Given the description of an element on the screen output the (x, y) to click on. 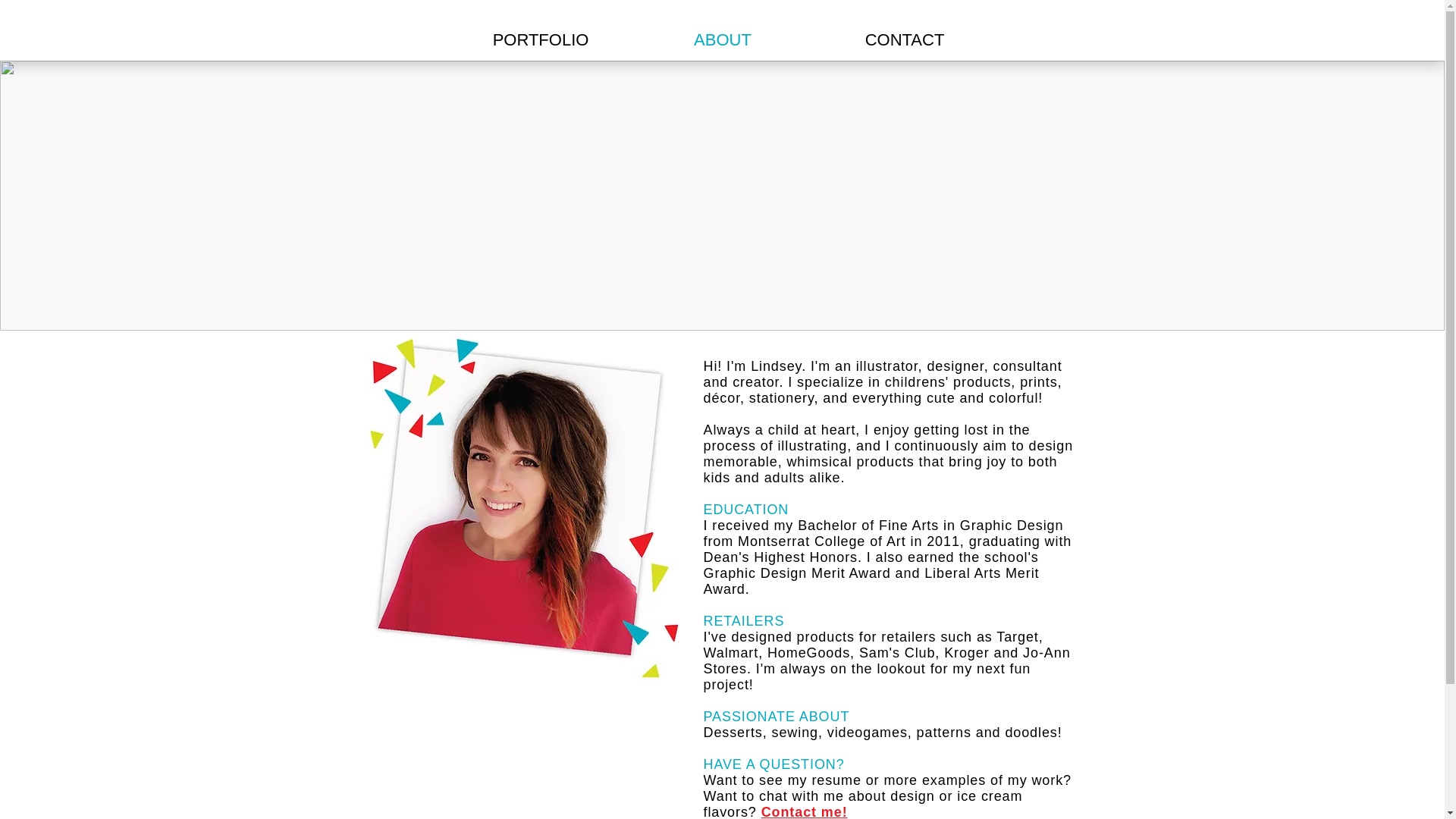
PORTFOLIO (540, 38)
ABOUT (722, 38)
Contact me! (804, 811)
CONTACT (904, 38)
